Given the description of an element on the screen output the (x, y) to click on. 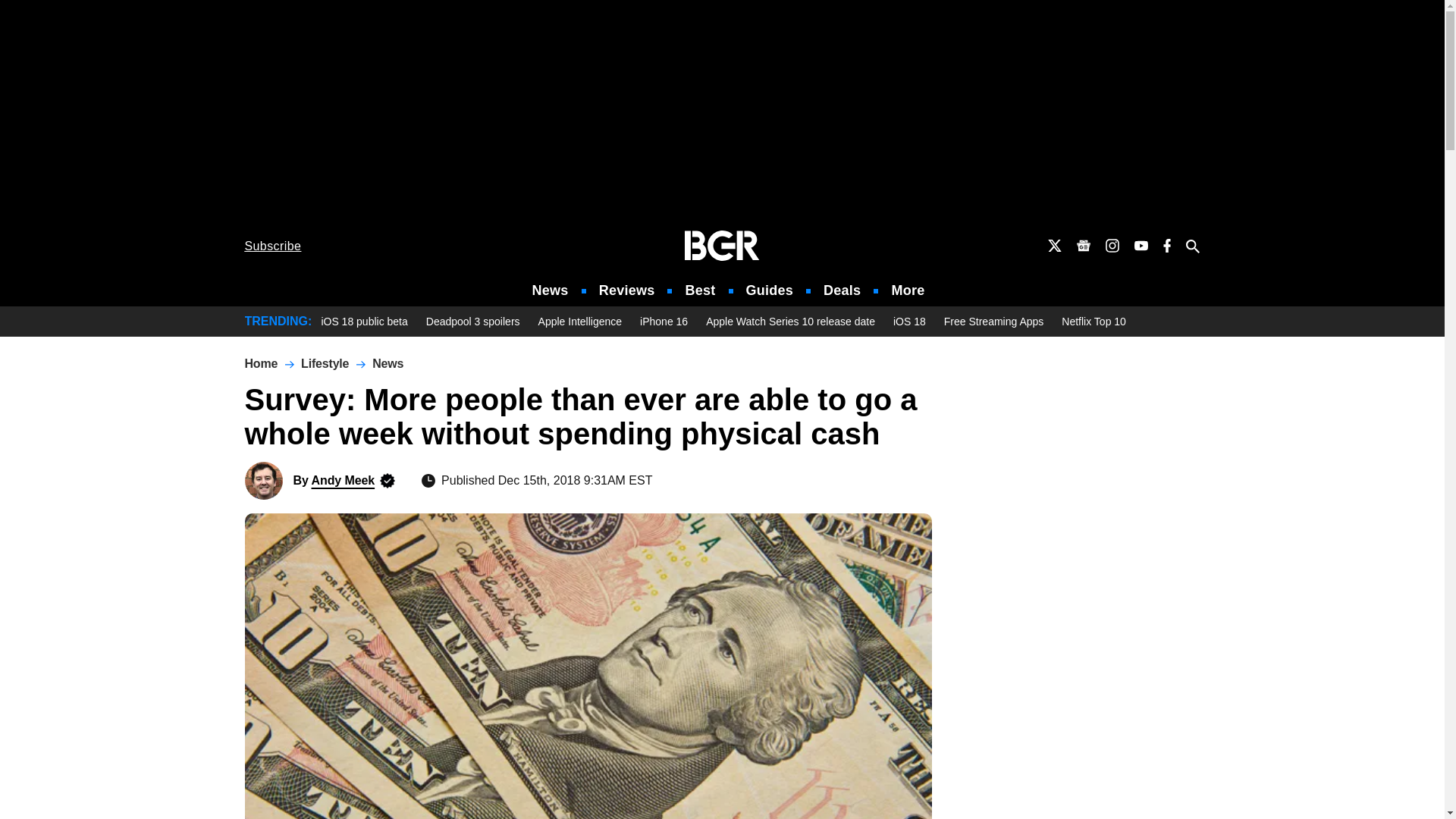
Posts by Andy Meek (343, 480)
Best (699, 290)
Reviews (626, 290)
Deals (842, 290)
More (907, 290)
News (550, 290)
Subscribe (272, 245)
Guides (769, 290)
